Given the description of an element on the screen output the (x, y) to click on. 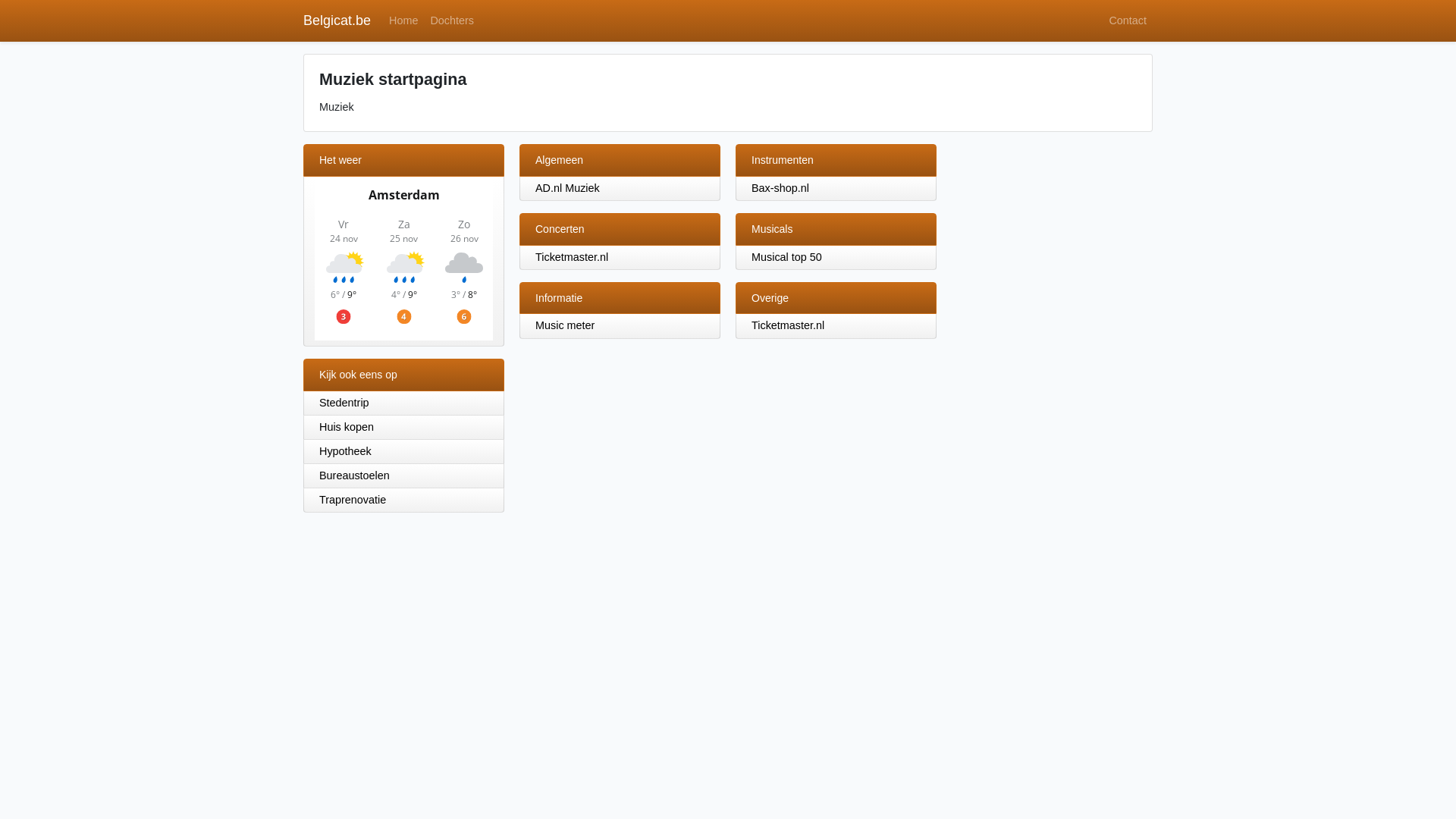
Belgicat.be Element type: text (336, 20)
Music meter Element type: text (564, 325)
Dochters Element type: text (451, 20)
Home Element type: text (402, 20)
AD.nl Muziek Element type: text (567, 188)
Bureaustoelen Element type: text (403, 476)
Hypotheek Element type: text (403, 451)
Contact Element type: text (1127, 20)
Huis kopen Element type: text (403, 427)
Bax-shop.nl Element type: text (780, 188)
Musical top 50 Element type: text (786, 257)
Stedentrip Element type: text (403, 403)
Traprenovatie Element type: text (403, 500)
Ticketmaster.nl Element type: text (787, 325)
Ticketmaster.nl Element type: text (571, 257)
